Given the description of an element on the screen output the (x, y) to click on. 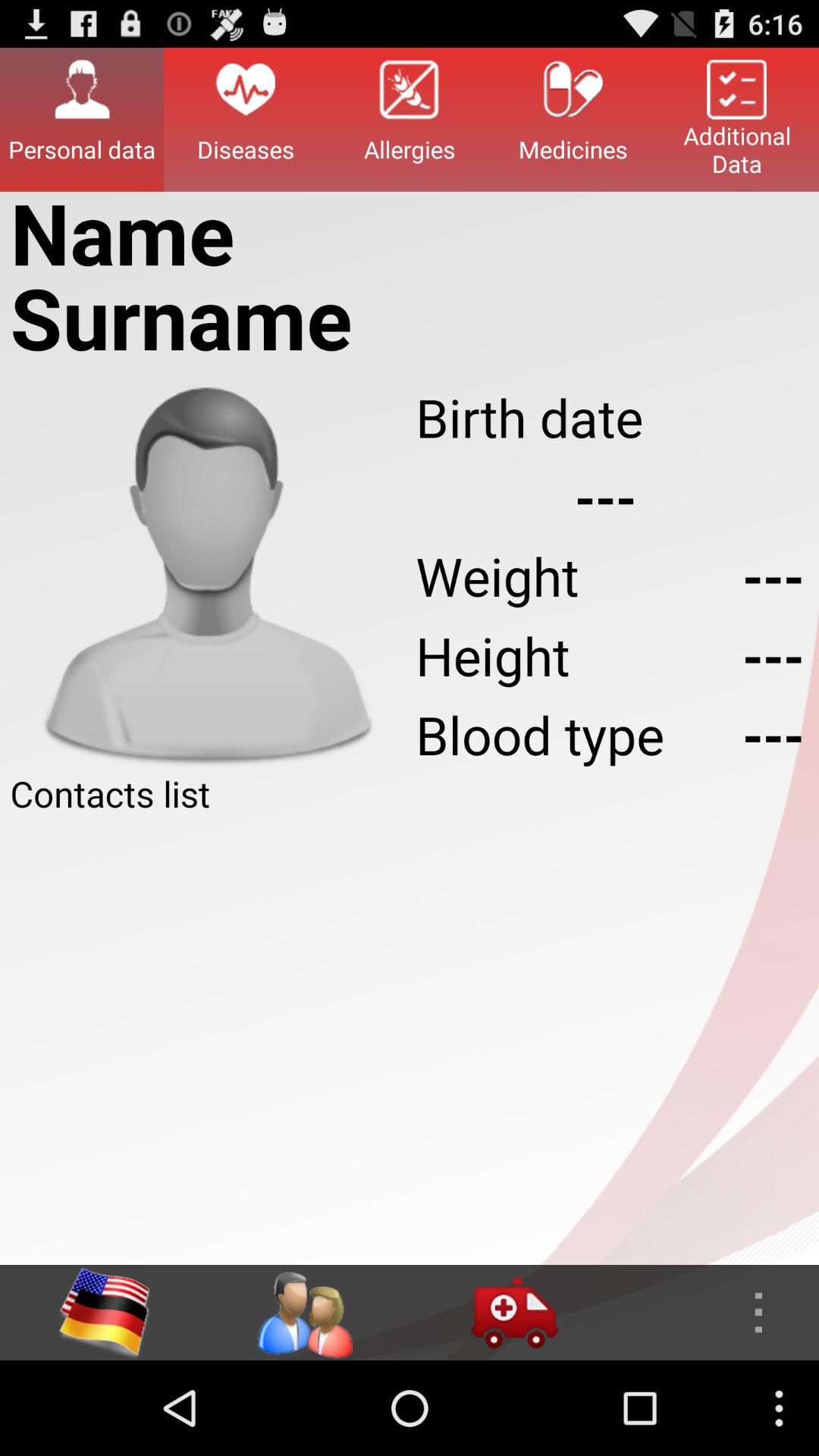
turn off the icon to the left of the medicines icon (409, 119)
